Given the description of an element on the screen output the (x, y) to click on. 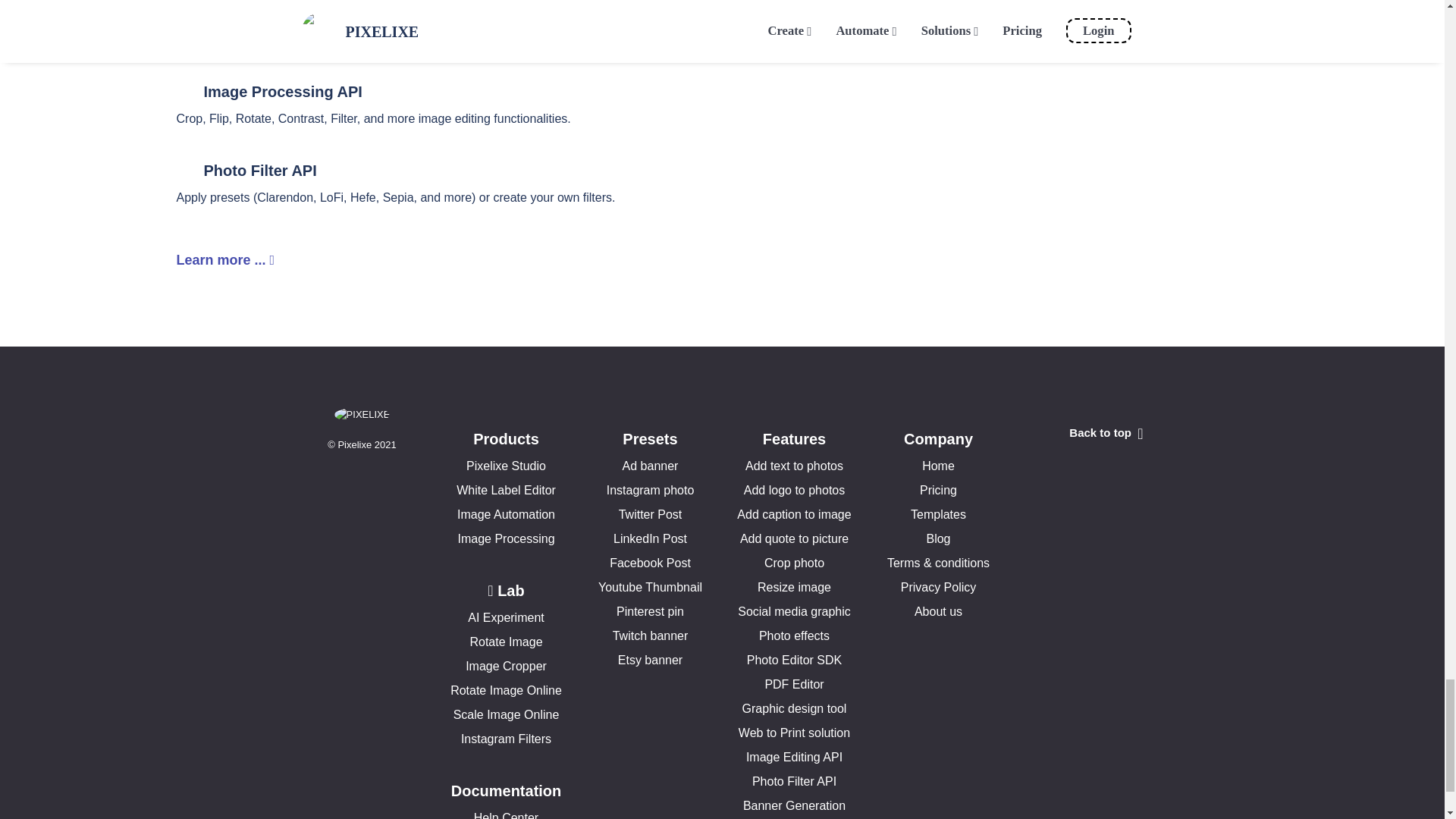
Back to top (1105, 433)
